Given the description of an element on the screen output the (x, y) to click on. 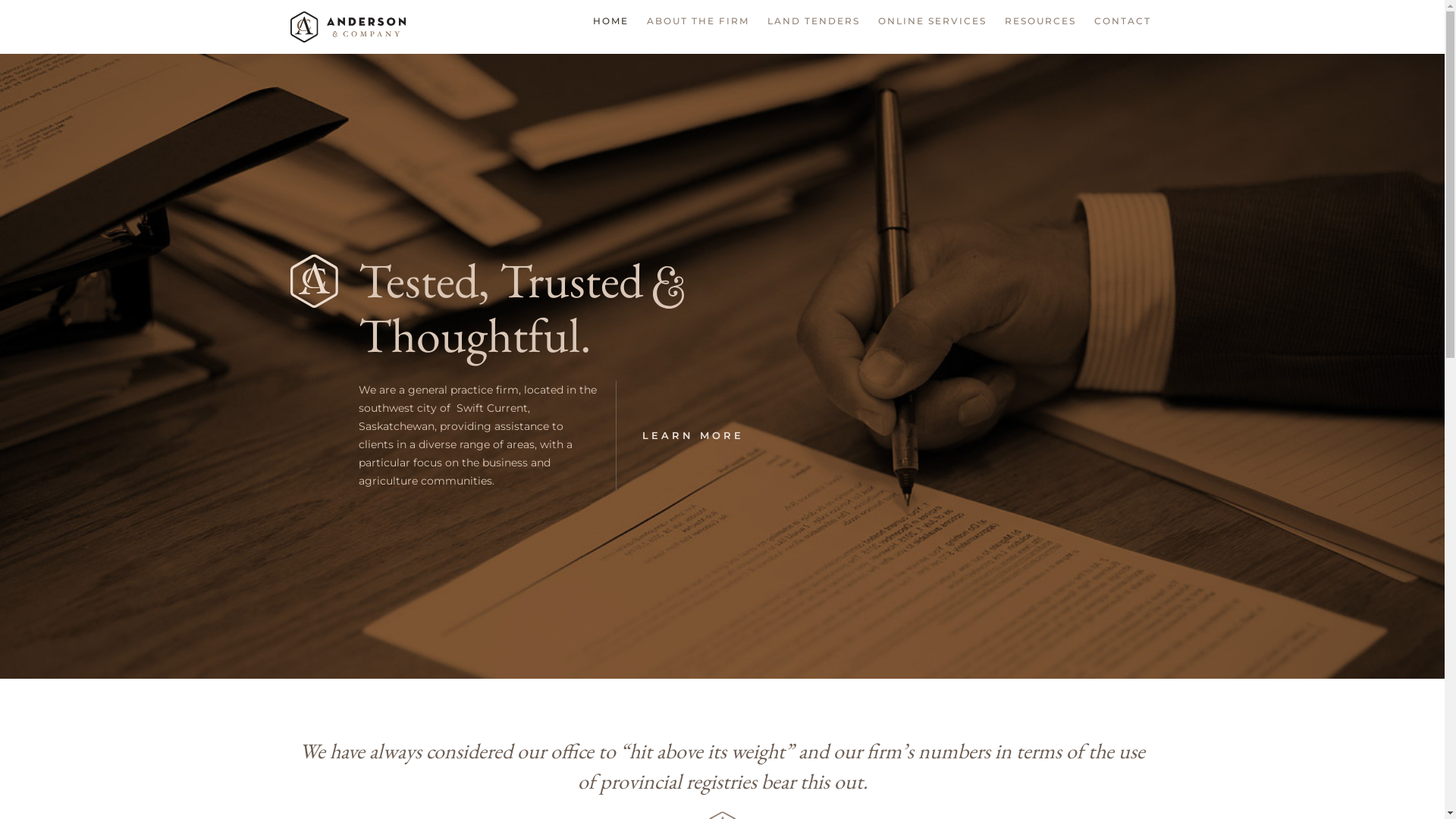
HOME Element type: text (609, 26)
CONTACT Element type: text (1122, 26)
RESOURCES Element type: text (1040, 26)
Anderson & Company Element type: hover (347, 26)
ONLINE SERVICES Element type: text (931, 26)
ABOUT THE FIRM Element type: text (698, 26)
LEARN MORE Element type: text (692, 435)
LAND TENDERS Element type: text (812, 26)
